Given the description of an element on the screen output the (x, y) to click on. 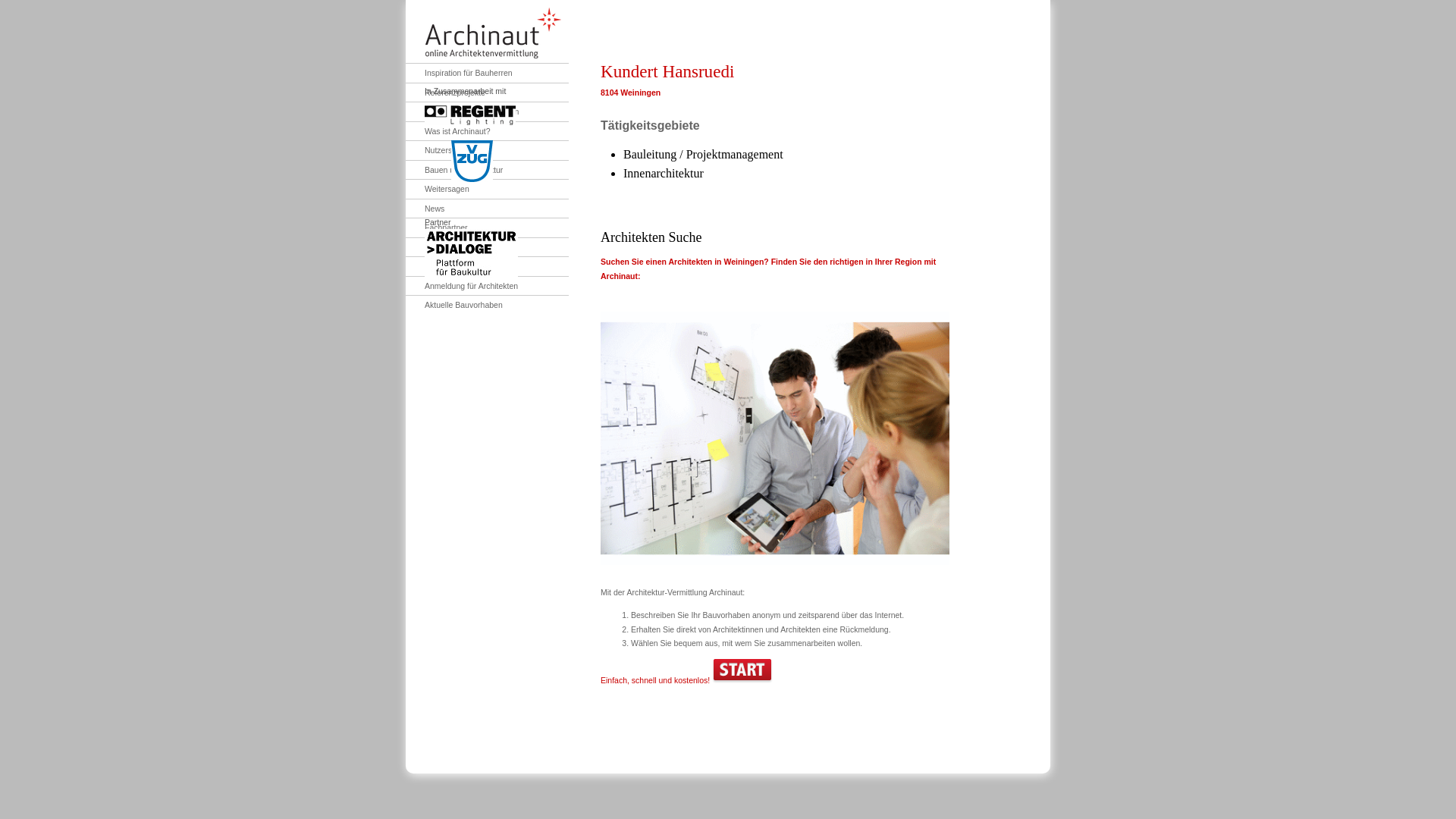
Affiliate werden Element type: text (442, 247)
Aktuelle Bauvorhaben Element type: text (453, 305)
Nutzerstimmen Element type: text (441, 150)
Fachpartner Element type: text (436, 227)
Einfach, schnell und kostenlos! Element type: text (686, 679)
Bauen und Architektur Element type: text (453, 170)
News Element type: text (424, 208)
Architekten in Ihrer Region Element type: text (461, 111)
Archinaut Element type: hover (493, 32)
Kontakt / Impressum Element type: text (451, 266)
Was ist Archinaut? Element type: text (447, 130)
Referenzprojekte Element type: text (445, 92)
Weitersagen Element type: text (437, 189)
